Given the description of an element on the screen output the (x, y) to click on. 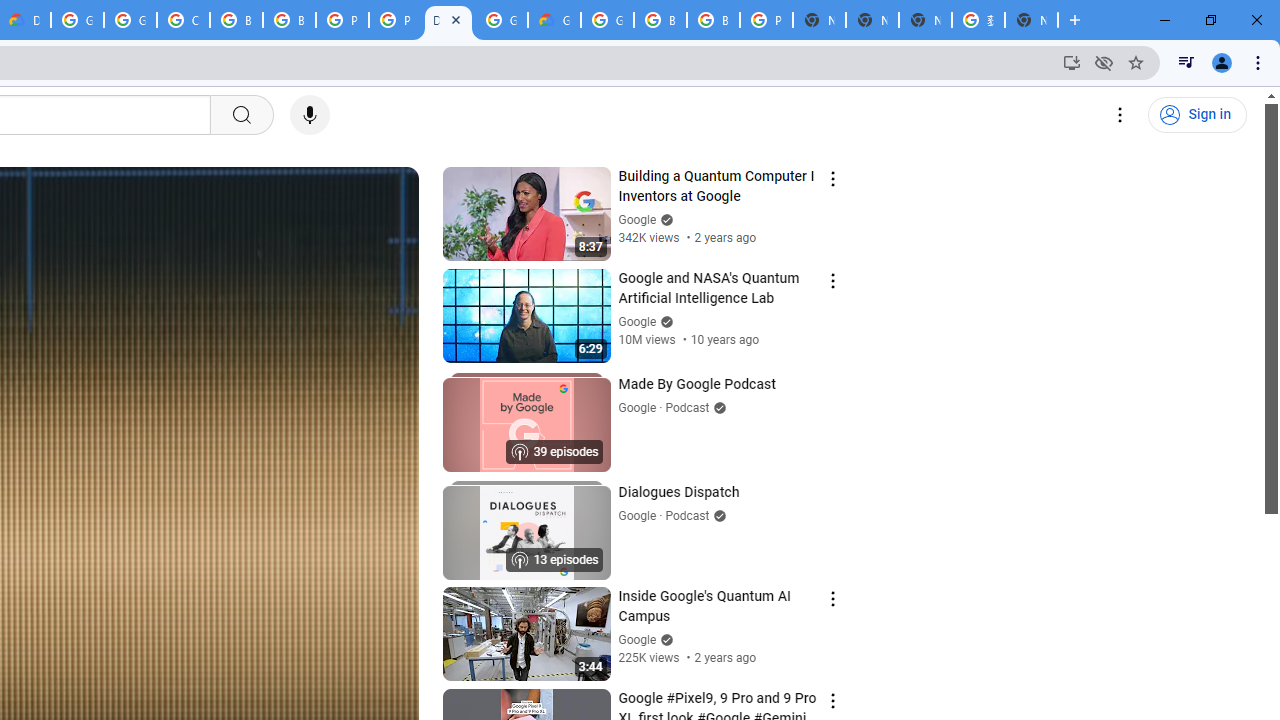
New Tab (1031, 20)
Google Cloud Platform (77, 20)
Demonstrating Quantum Supremacy - YouTube - Audio playing (448, 20)
Google Cloud Estimate Summary (554, 20)
